Given the description of an element on the screen output the (x, y) to click on. 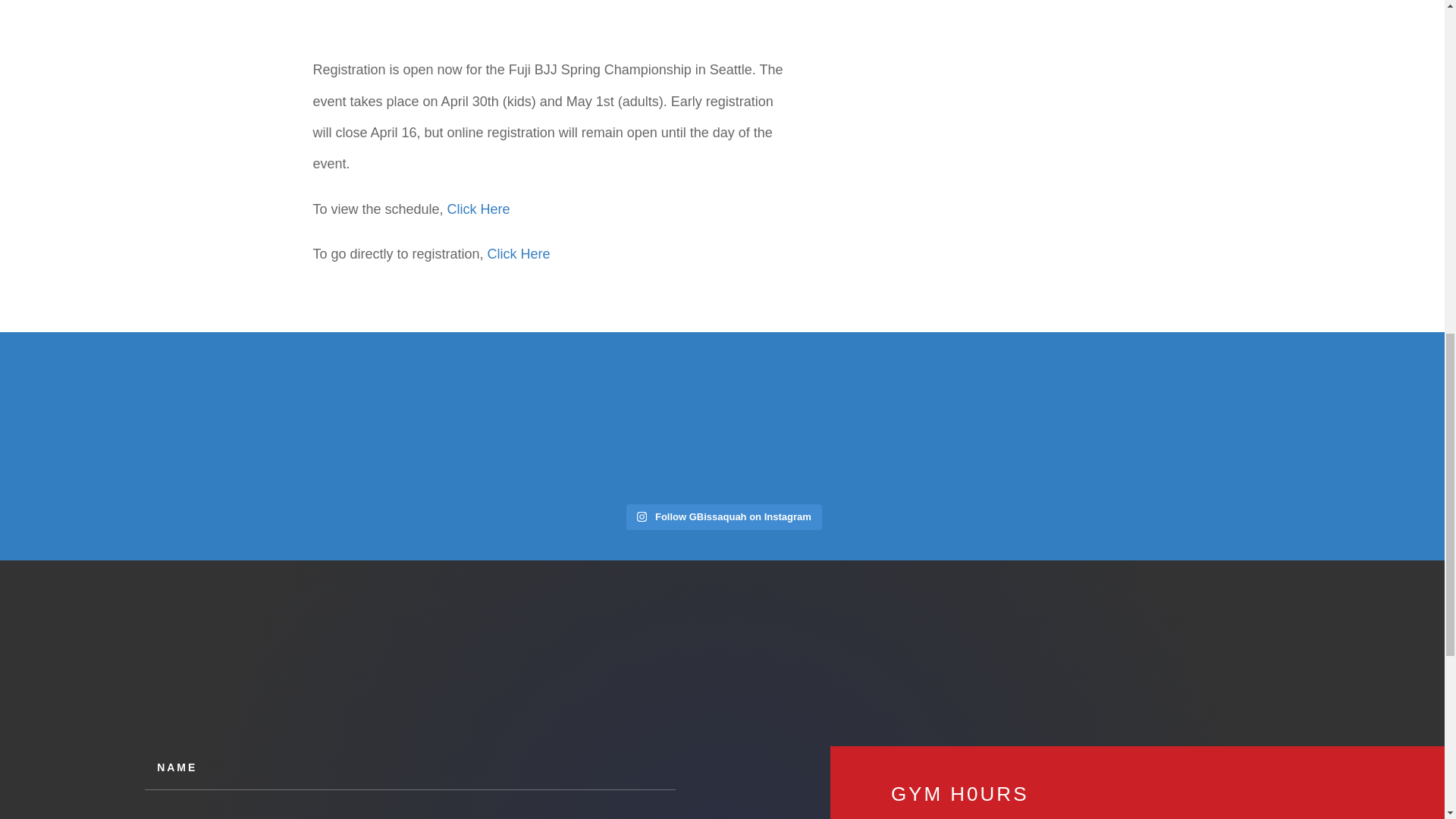
Follow GBissaquah on Instagram (724, 516)
Click Here (478, 209)
Click Here (518, 253)
